Given the description of an element on the screen output the (x, y) to click on. 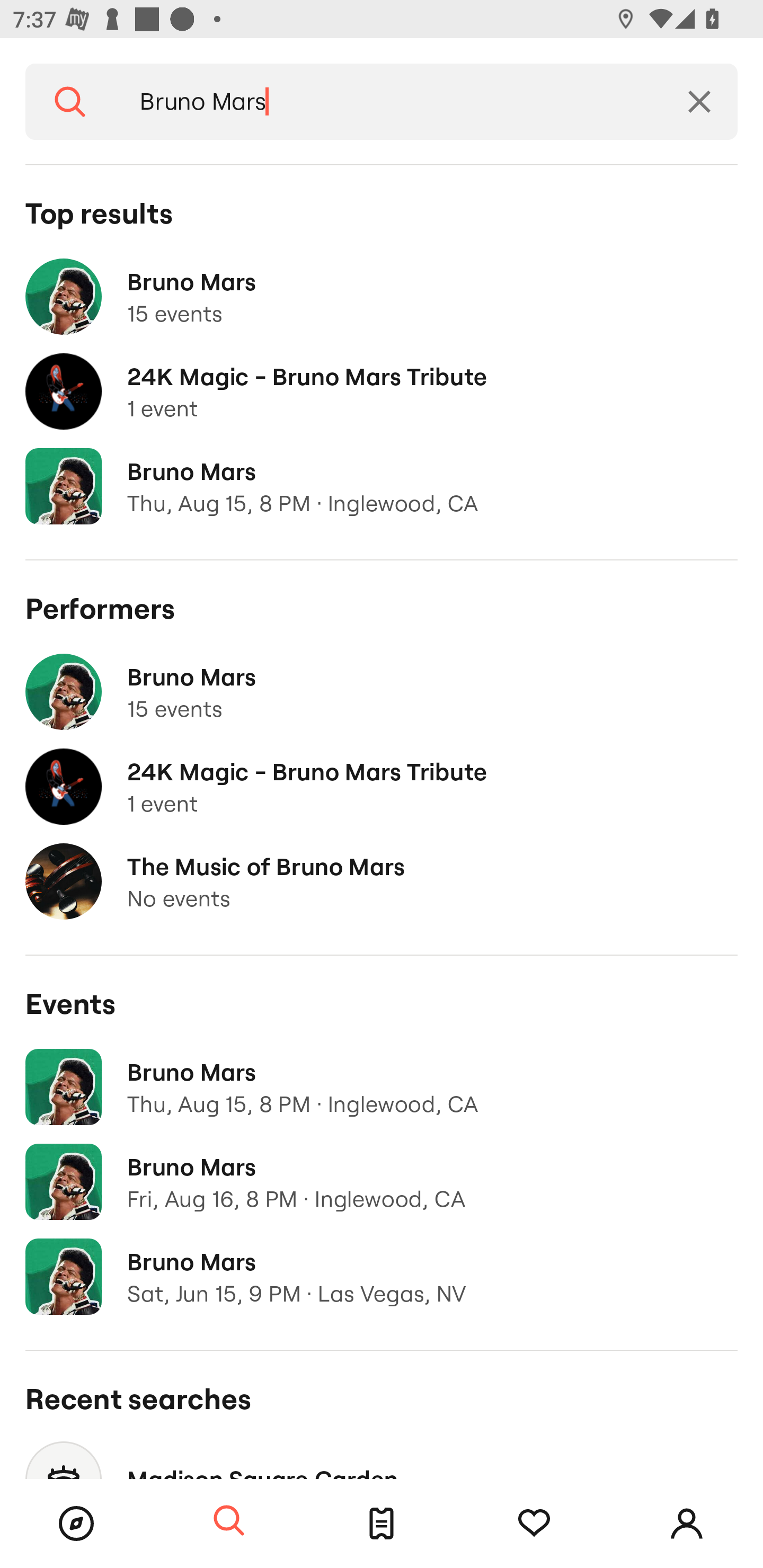
Search (69, 101)
Bruno Mars (387, 101)
Clear (699, 101)
Bruno Mars 15 events (381, 296)
24K Magic - Bruno Mars Tribute 1 event (381, 391)
Bruno Mars Thu, Aug 15, 8 PM · Inglewood, CA (381, 486)
Bruno Mars 15 events (381, 692)
24K Magic - Bruno Mars Tribute 1 event (381, 787)
The Music of Bruno Mars No events (381, 881)
Bruno Mars Thu, Aug 15, 8 PM · Inglewood, CA (381, 1087)
Bruno Mars Fri, Aug 16, 8 PM · Inglewood, CA (381, 1182)
Bruno Mars Sat, Jun 15, 9 PM · Las Vegas, NV (381, 1276)
Browse (76, 1523)
Search (228, 1521)
Tickets (381, 1523)
Tracking (533, 1523)
Account (686, 1523)
